Given the description of an element on the screen output the (x, y) to click on. 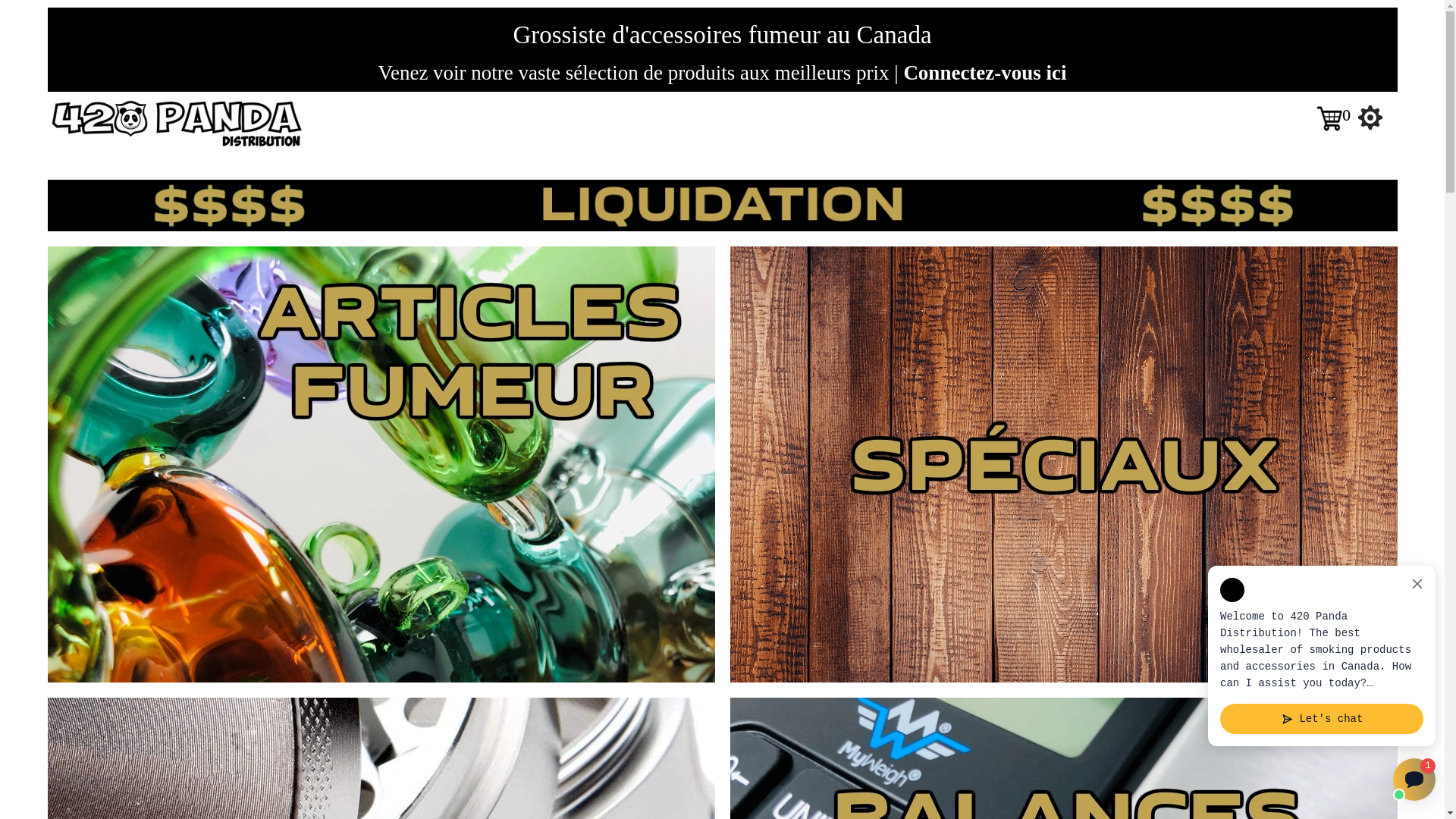
420 Panda distribution Element type: hover (174, 120)
0 Element type: text (1337, 116)
Smartsupp widget button Element type: hover (1414, 779)
Smartsupp widget popup Element type: hover (1321, 655)
Menu Element type: hover (1369, 118)
Grossiste d'accessoires fumeur au Canada Element type: text (721, 34)
